Given the description of an element on the screen output the (x, y) to click on. 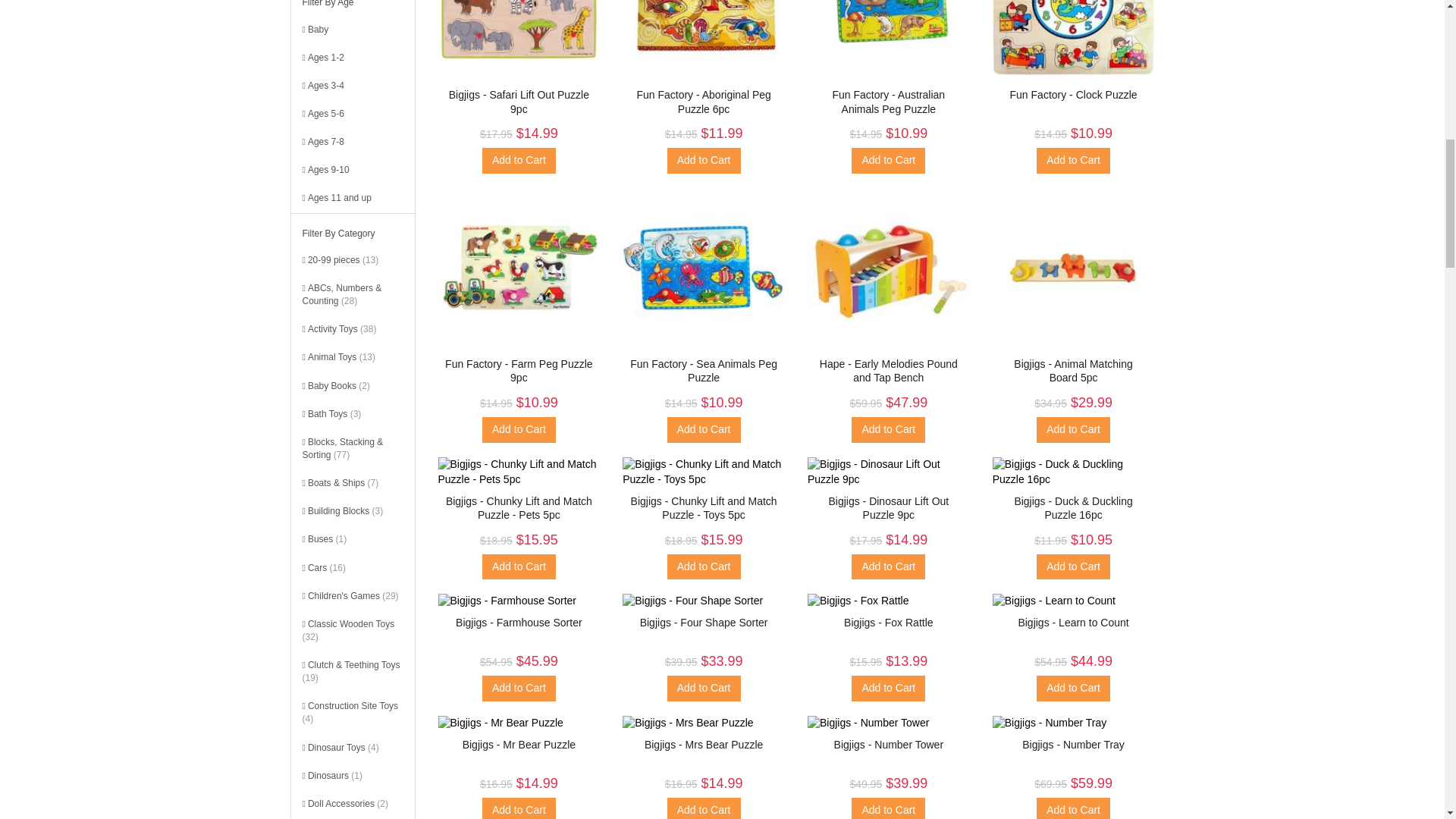
Hape - Early Melodies Pound and Tap Bench (888, 370)
Add to Cart (703, 429)
Bigjigs - Chunky Lift and Match Puzzle - Pets 5pc (518, 507)
Add to Cart (887, 160)
Add to Cart (887, 429)
Fun Factory - Aboriginal Peg Puzzle 6pc (703, 101)
Fun Factory - Farm Peg Puzzle 9pc (518, 370)
Fun Factory - Australian Animals Peg Puzzle (888, 101)
Fun Factory - Sea Animals Peg Puzzle (703, 370)
Add to Cart (518, 429)
